Given the description of an element on the screen output the (x, y) to click on. 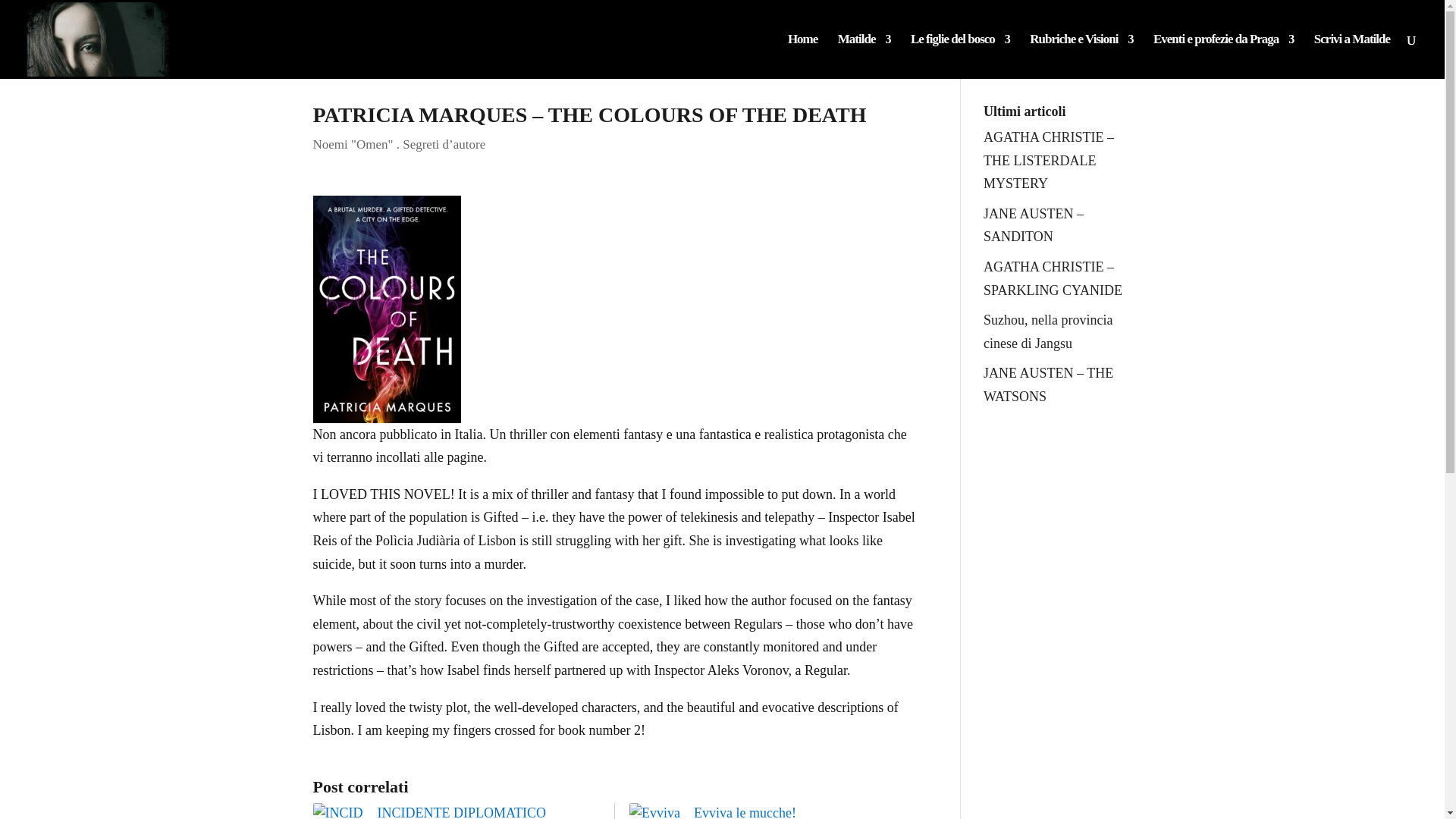
Eventi e profezie da Praga (1223, 56)
Rubriche e Visioni (1080, 56)
Matilde (864, 56)
Le figlie del bosco (960, 56)
